Given the description of an element on the screen output the (x, y) to click on. 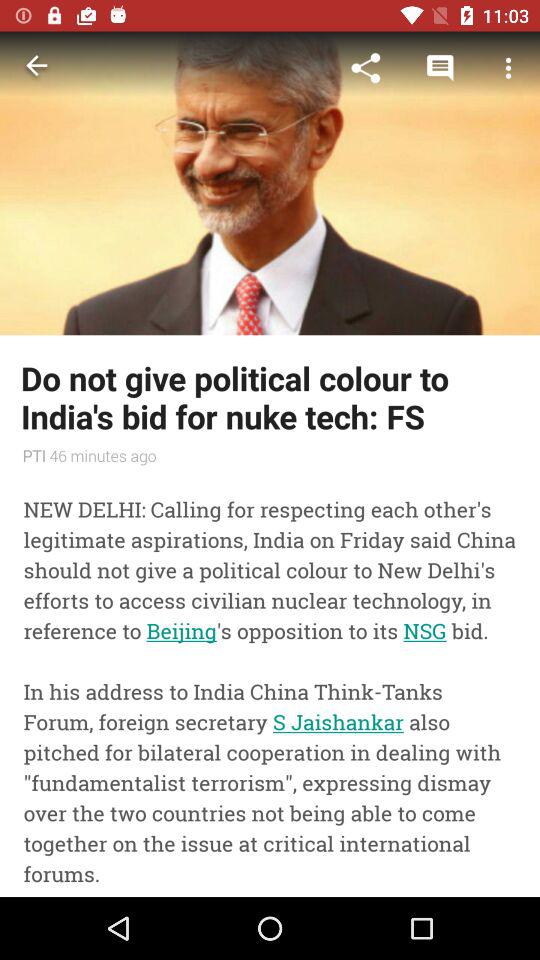
see picture (270, 183)
